Given the description of an element on the screen output the (x, y) to click on. 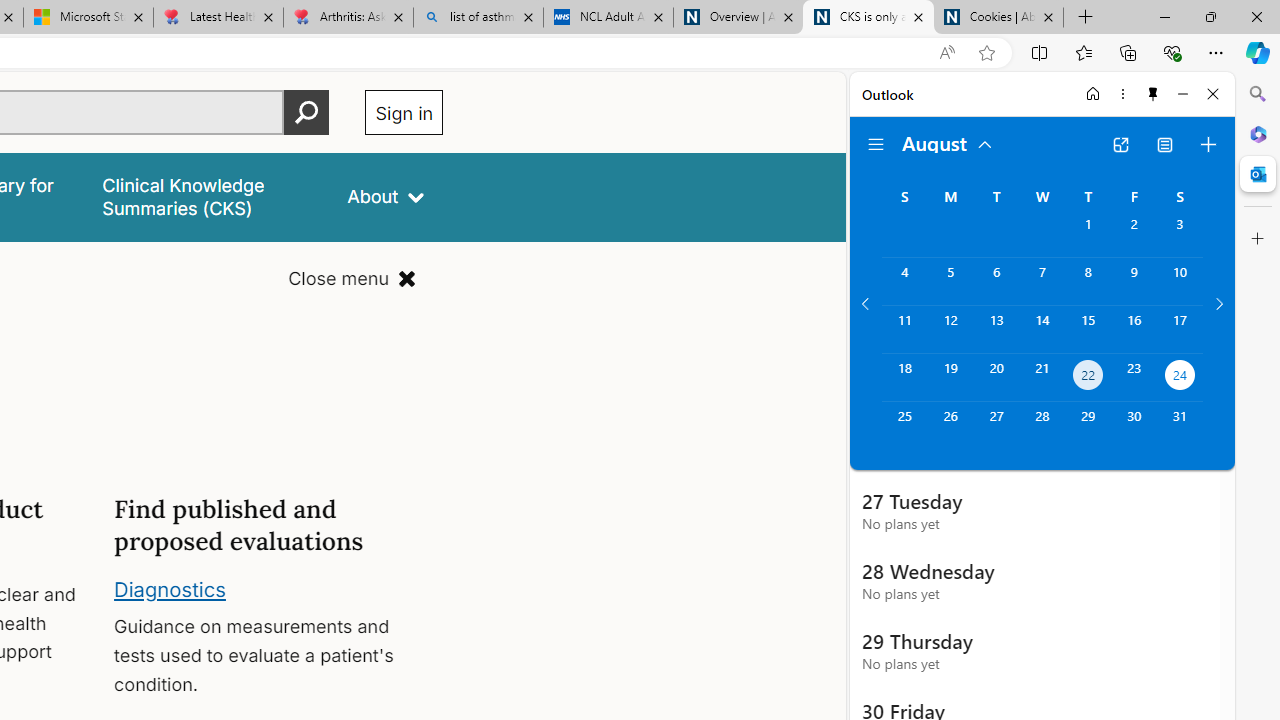
Saturday, August 31, 2024.  (1180, 425)
Monday, August 5, 2024.  (950, 281)
Tuesday, August 6, 2024.  (996, 281)
Diagnostics (169, 588)
Monday, August 19, 2024.  (950, 377)
Sunday, August 25, 2024.  (904, 425)
Friday, August 9, 2024.  (1134, 281)
Tuesday, August 13, 2024.  (996, 329)
